Given the description of an element on the screen output the (x, y) to click on. 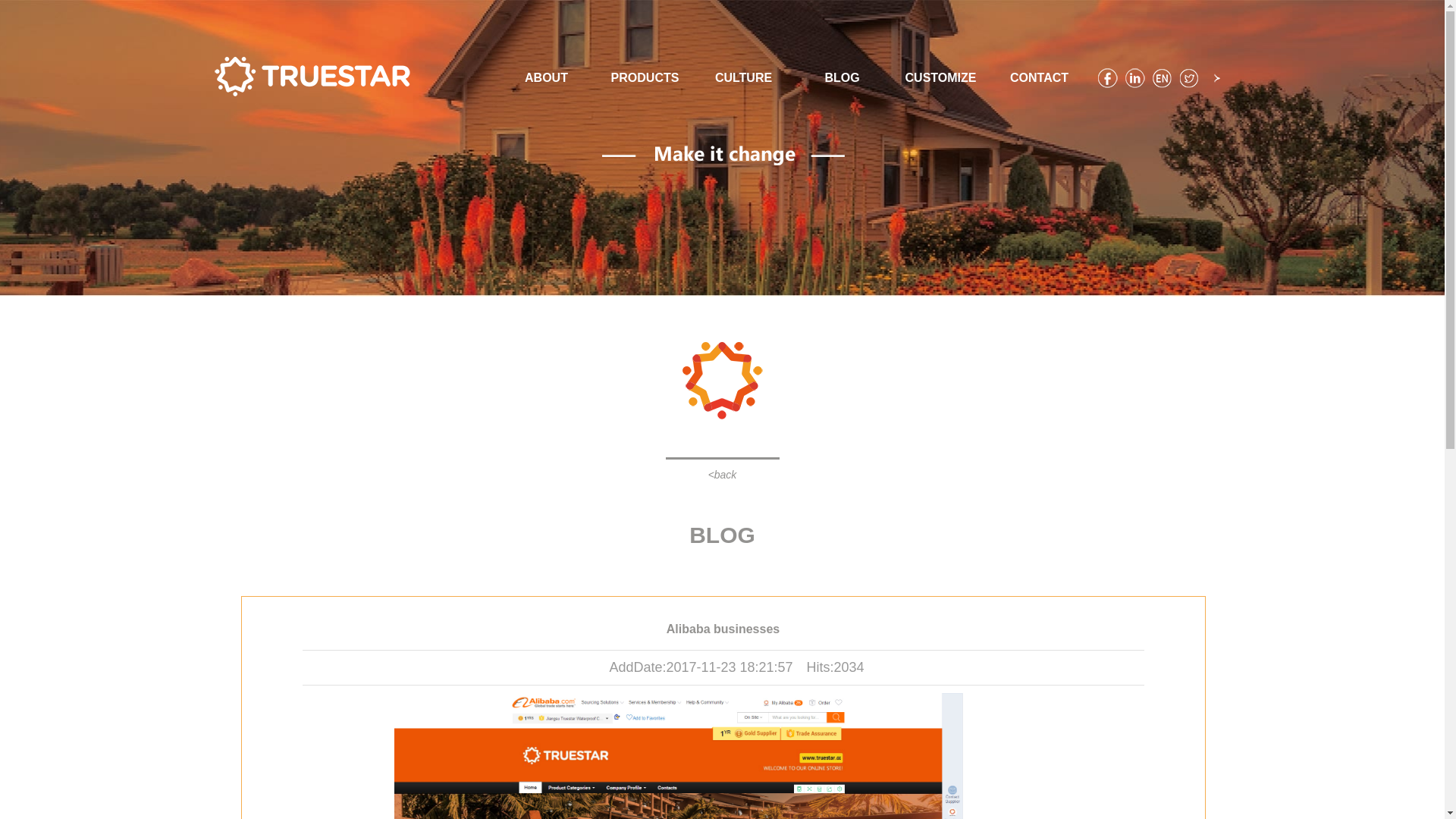
<back Element type: text (722, 474)
PRODUCTS Element type: text (645, 77)
BLOG Element type: text (842, 77)
CUSTOMIZE Element type: text (940, 77)
CONTACT Element type: text (1039, 77)
ABOUT Element type: text (546, 77)
CULTURE Element type: text (743, 77)
